Given the description of an element on the screen output the (x, y) to click on. 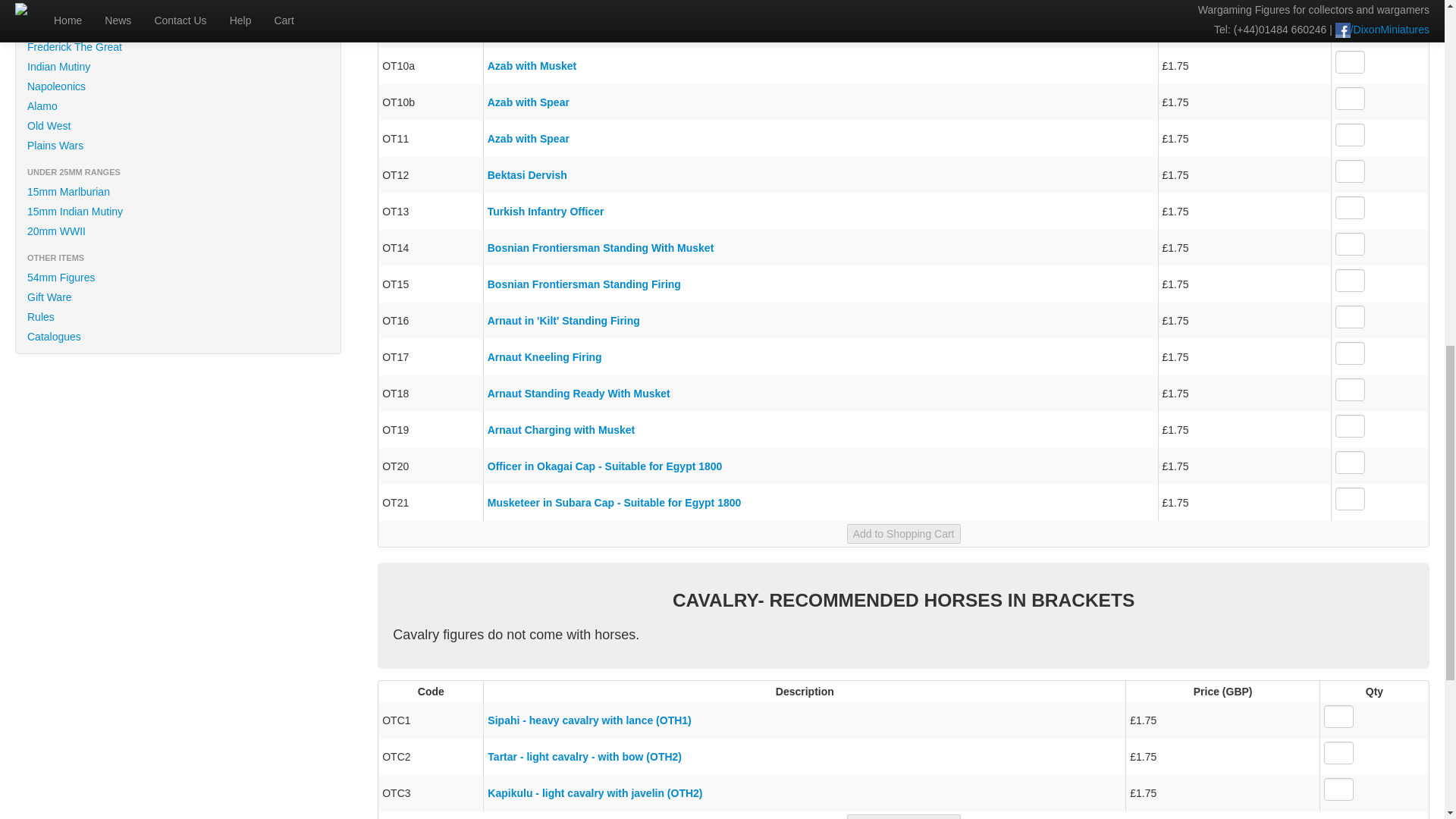
OT10a - Azab with Musket (531, 65)
OT18 - Arnaut Standing Ready With Musket (578, 393)
OT16 - Arnaut in 'Kilt' Standing Firing (563, 320)
OT13 - Turkish Infantry Officer (545, 211)
OT12 - Bektasi Dervish (527, 174)
OT10b - Azab with Spear (528, 102)
OT14 - Bosnian Frontiersman Standing With Musket (600, 247)
OT11 - Azab with Spear (528, 138)
OT17 - Arnaut Kneeling Firing (544, 357)
American Revolution (178, 8)
